Given the description of an element on the screen output the (x, y) to click on. 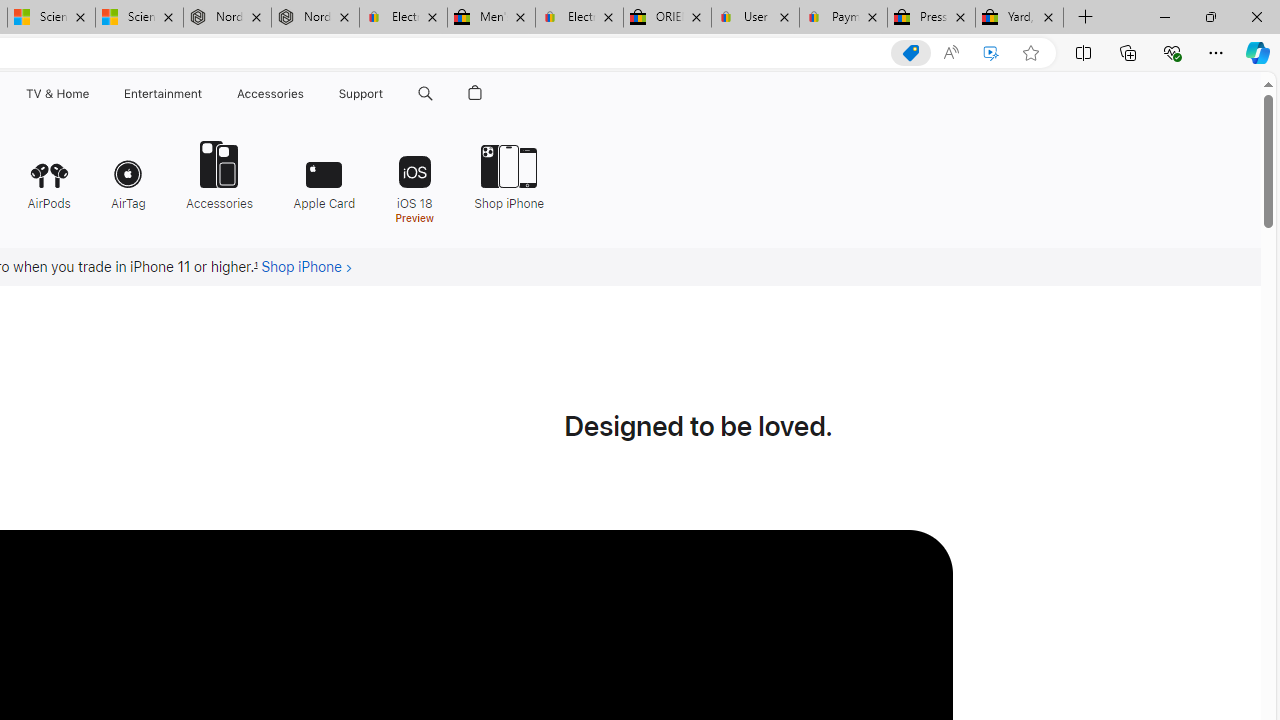
Search apple.com (425, 93)
AirTag (128, 173)
AirPods (48, 173)
Accessories menu (306, 93)
Enhance video (991, 53)
AirTag (128, 173)
Accessories (219, 173)
Shopping Bag (475, 93)
Support (361, 93)
Apple Card (324, 173)
